Given the description of an element on the screen output the (x, y) to click on. 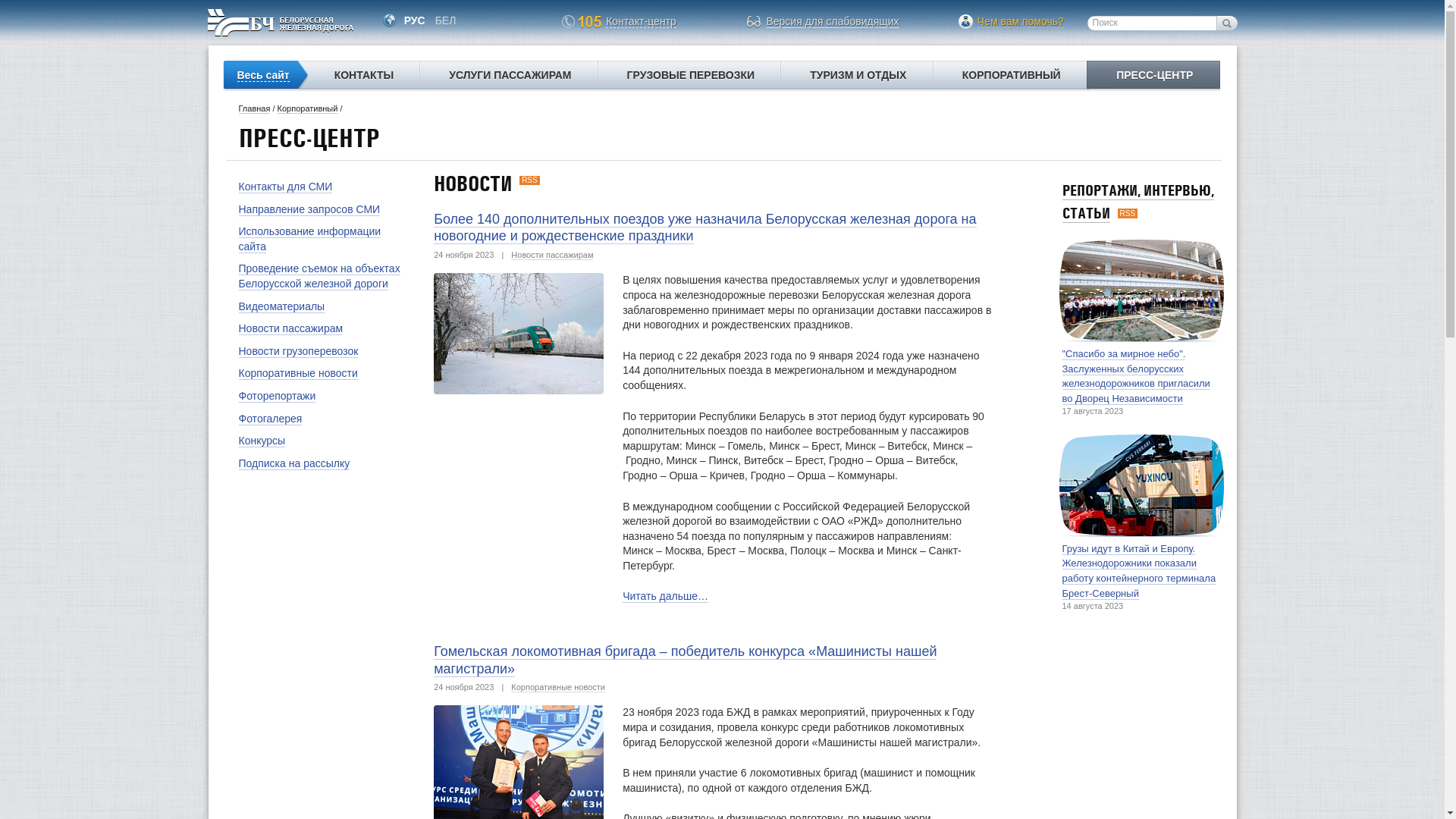
RSS Element type: text (1127, 213)
RSS Element type: text (529, 180)
